Given the description of an element on the screen output the (x, y) to click on. 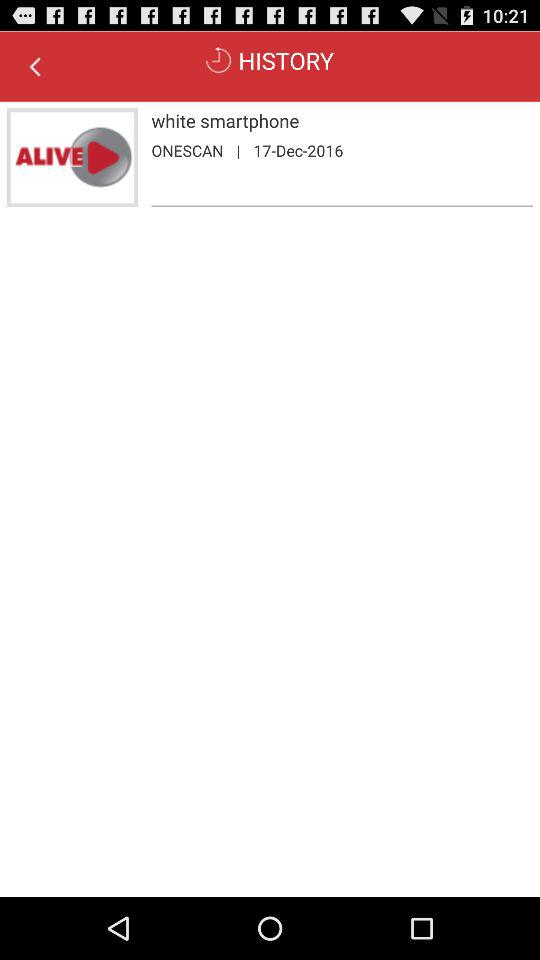
go back (35, 66)
